Given the description of an element on the screen output the (x, y) to click on. 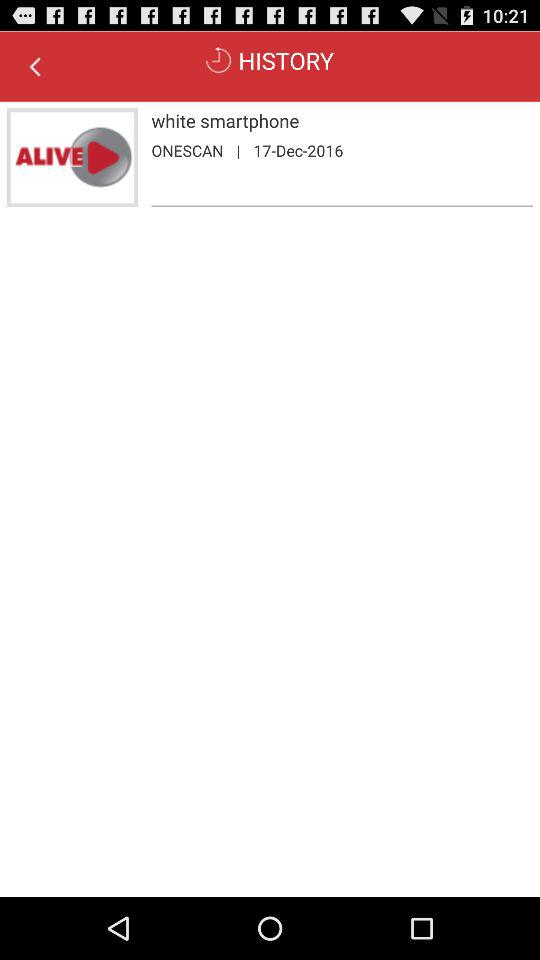
go back (35, 66)
